Given the description of an element on the screen output the (x, y) to click on. 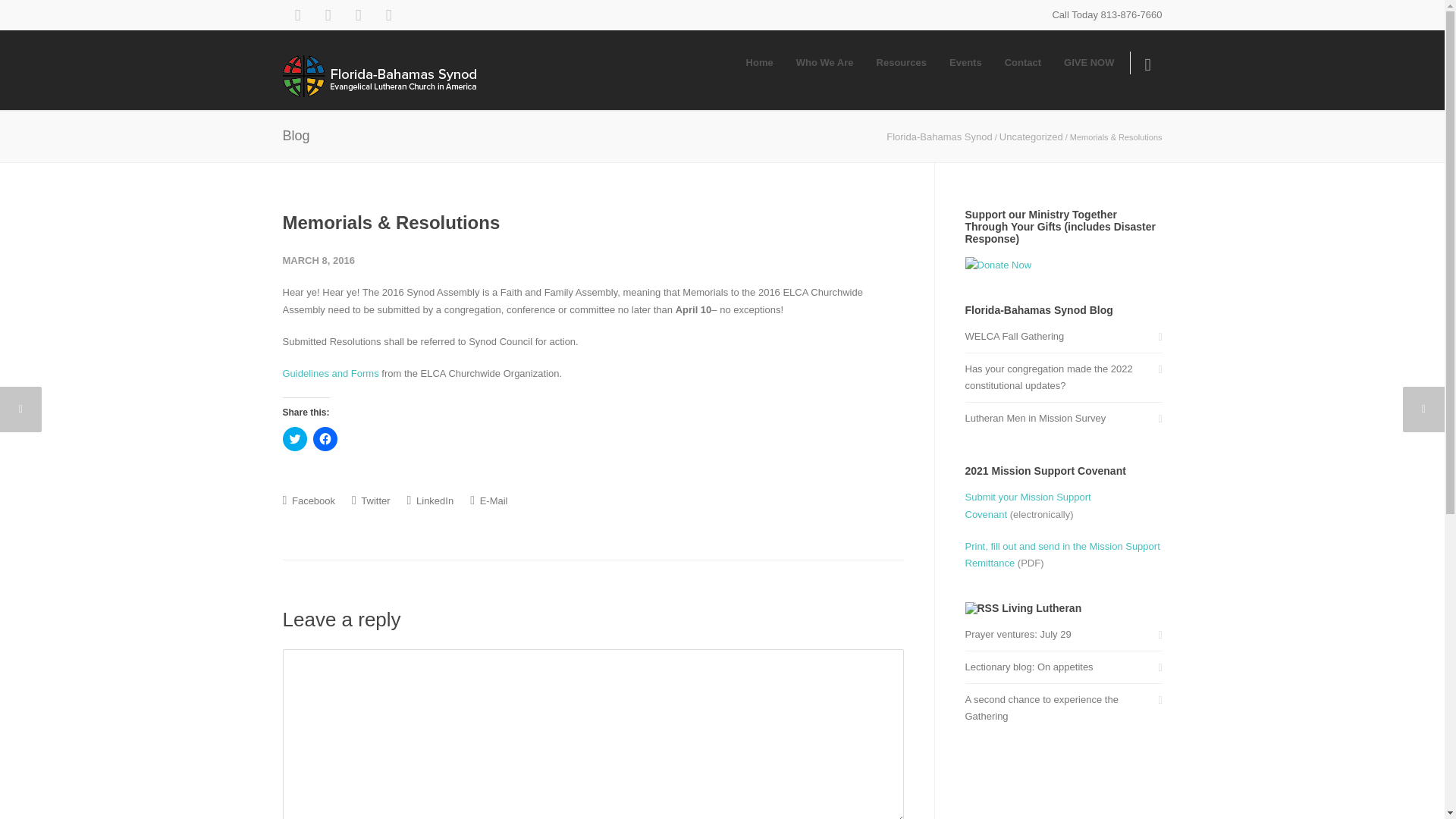
Share via Twitter (371, 500)
Twitter (327, 15)
Home (759, 62)
Share via E-Mail (488, 500)
YouTube (387, 15)
Vimeo (357, 15)
Share via LinkedIn (430, 500)
Click to share on Twitter (293, 438)
Share via Facebook (308, 500)
Who We Are (824, 62)
Facebook (297, 15)
Click to share on Facebook (324, 438)
Resources (900, 62)
